Given the description of an element on the screen output the (x, y) to click on. 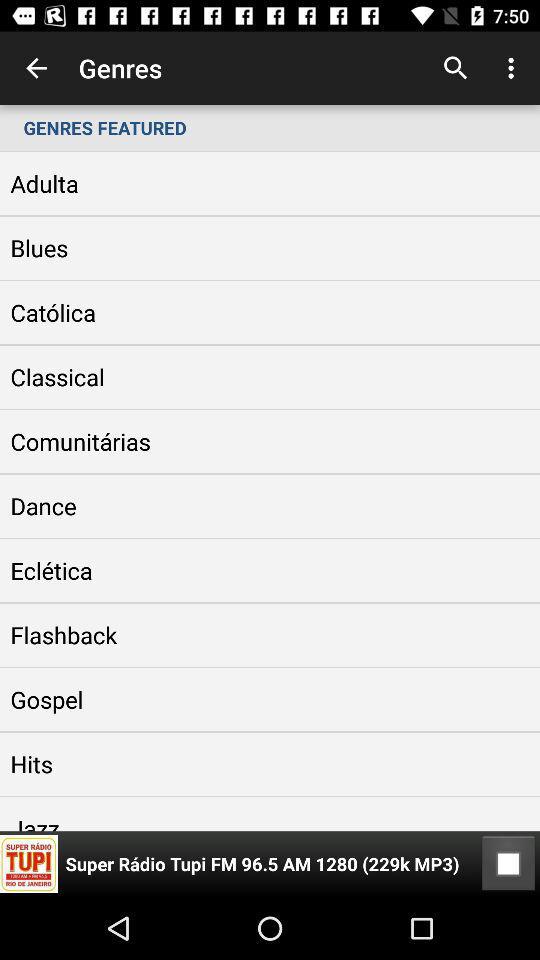
tap the app to the left of the genres icon (36, 68)
